Given the description of an element on the screen output the (x, y) to click on. 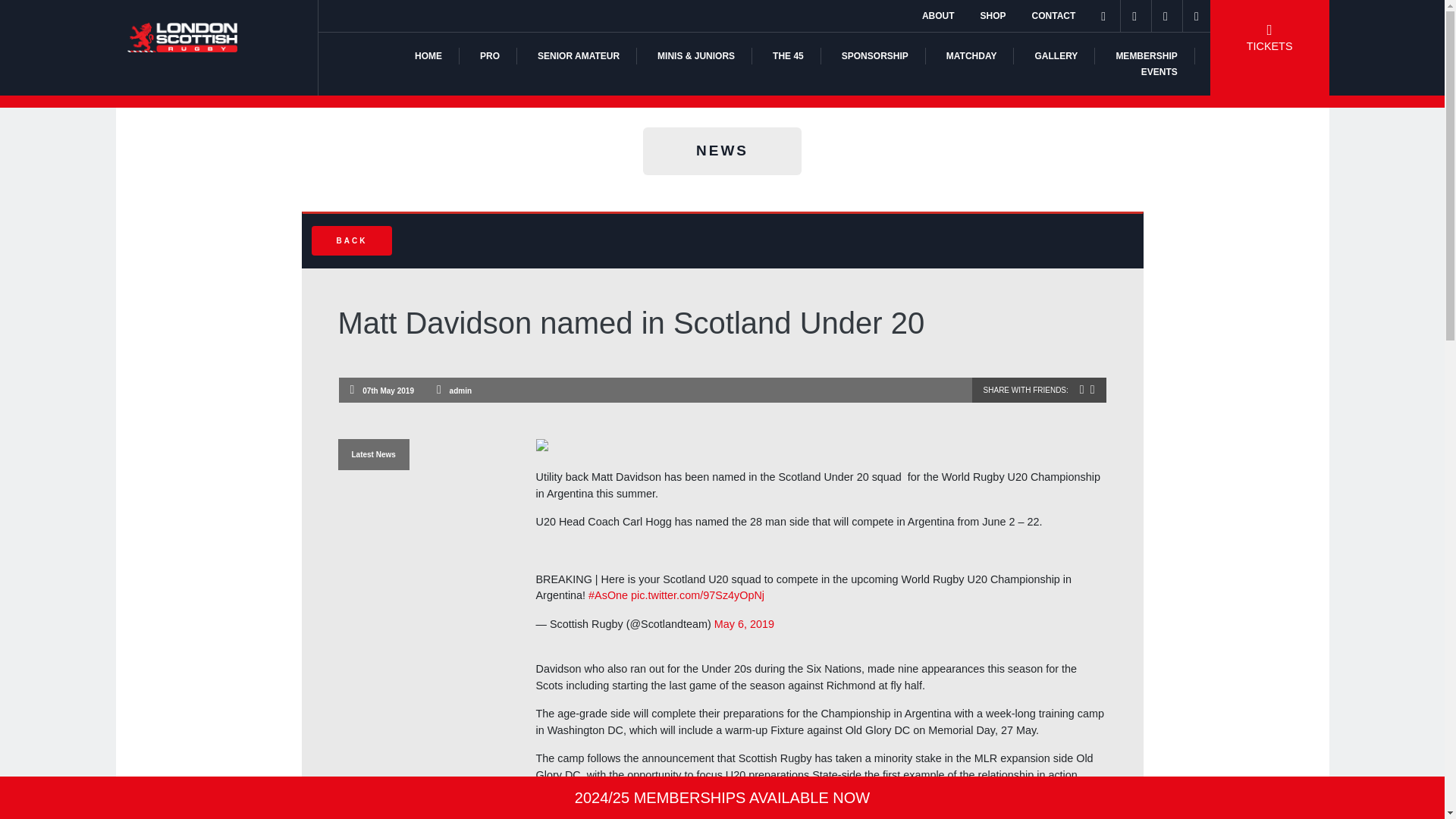
HOME (428, 55)
ABOUT (938, 15)
SHOP (992, 15)
PRO (489, 55)
MATCHDAY (971, 55)
THE 45 (788, 55)
MEMBERSHIP (1145, 55)
CONTACT (1053, 15)
SPONSORSHIP (874, 55)
SENIOR AMATEUR (578, 55)
